Given the description of an element on the screen output the (x, y) to click on. 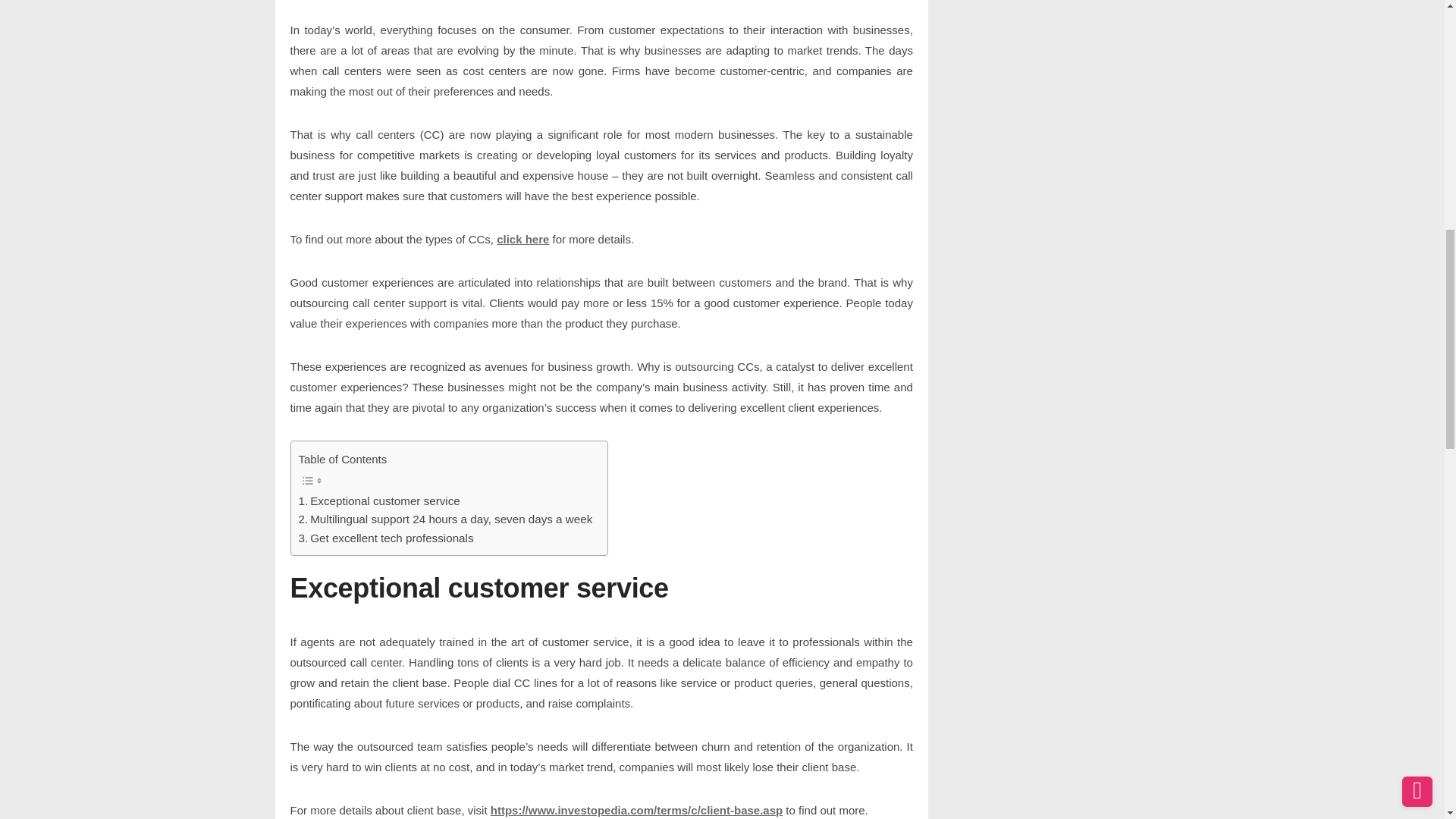
Multilingual support 24 hours a day, seven days a week (445, 519)
Get excellent tech professionals (386, 538)
Exceptional customer service (379, 501)
